Given the description of an element on the screen output the (x, y) to click on. 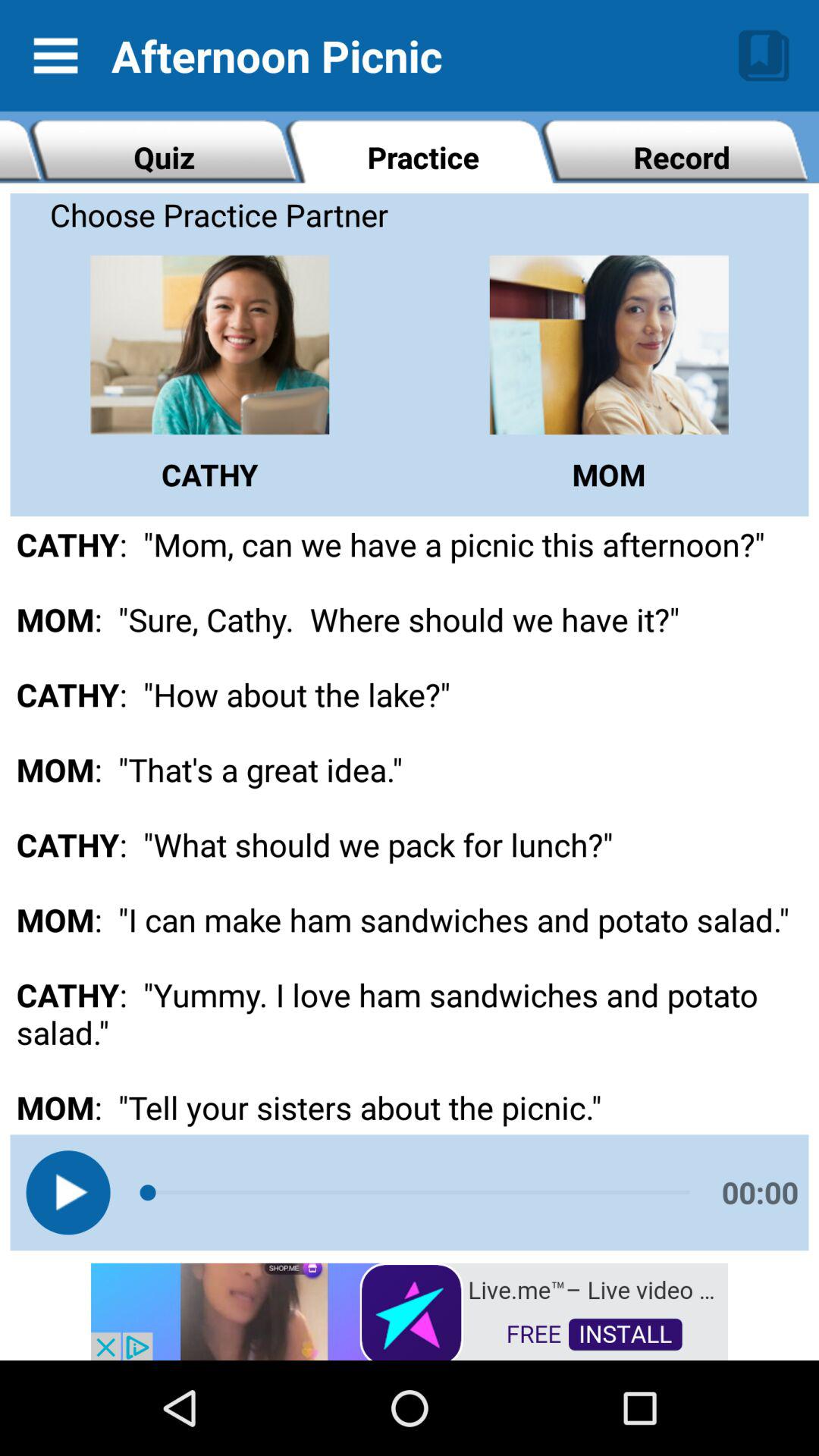
advertisements (409, 1310)
